Given the description of an element on the screen output the (x, y) to click on. 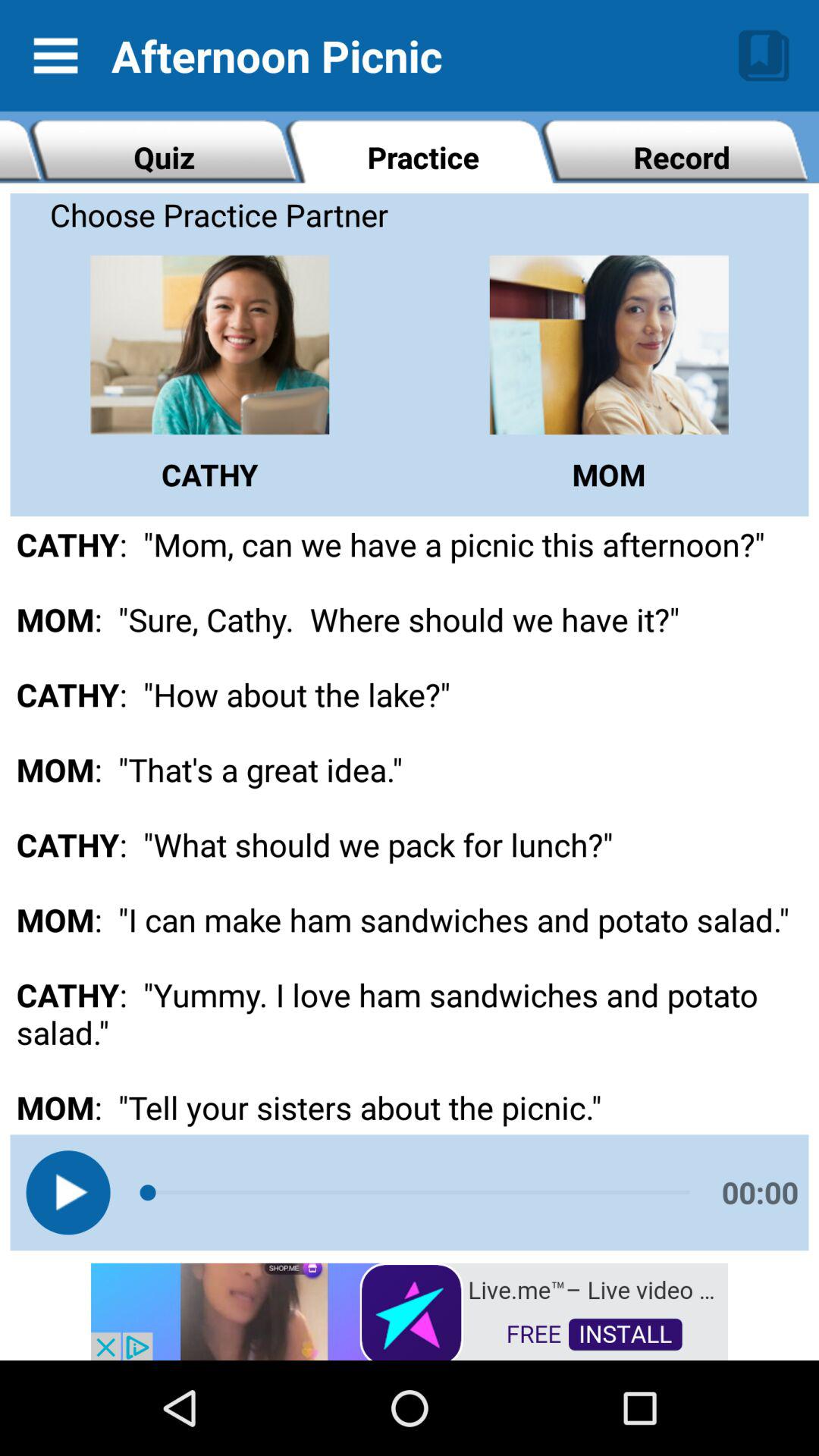
advertisements (409, 1310)
